Given the description of an element on the screen output the (x, y) to click on. 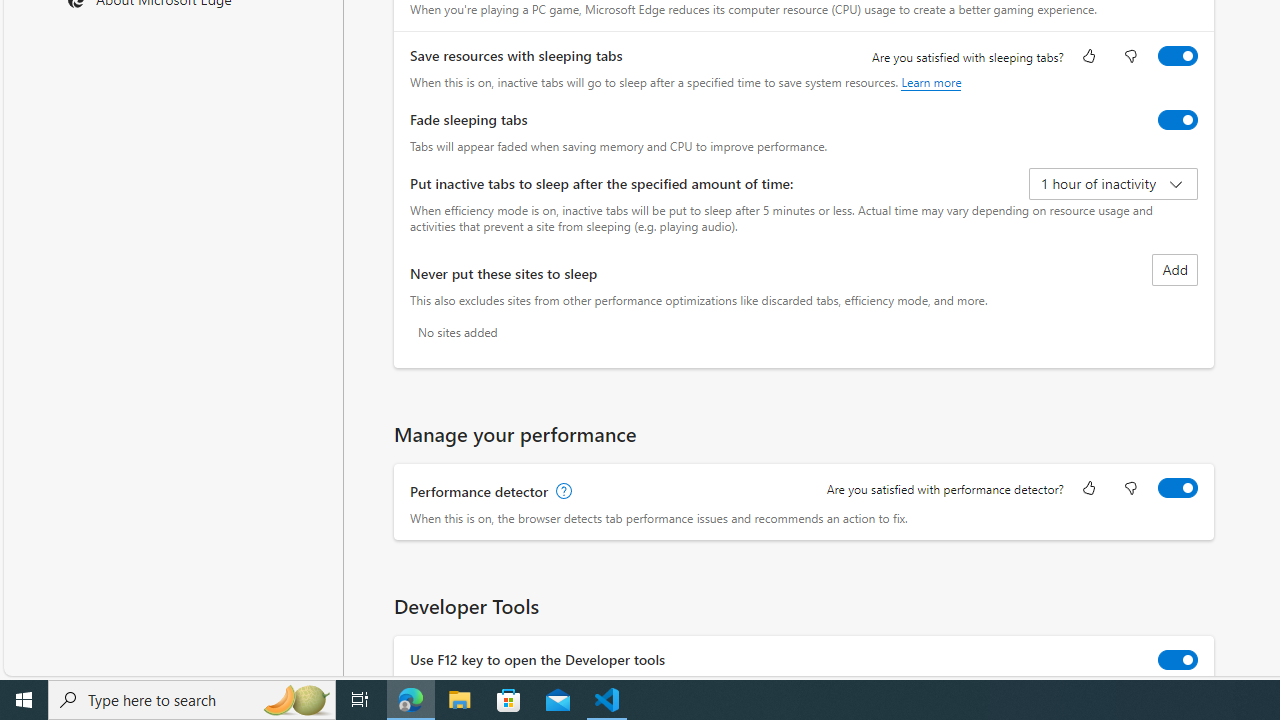
Dislike (1130, 489)
Learn more (931, 82)
Performance detector, learn more (562, 492)
Add site to never put these sites to sleep list (1175, 269)
Save resources with sleeping tabs (1178, 56)
Use F12 key to open the Developer tools (1178, 660)
Fade sleeping tabs (1178, 120)
Performance detector (1178, 488)
Like (1089, 489)
